Given the description of an element on the screen output the (x, y) to click on. 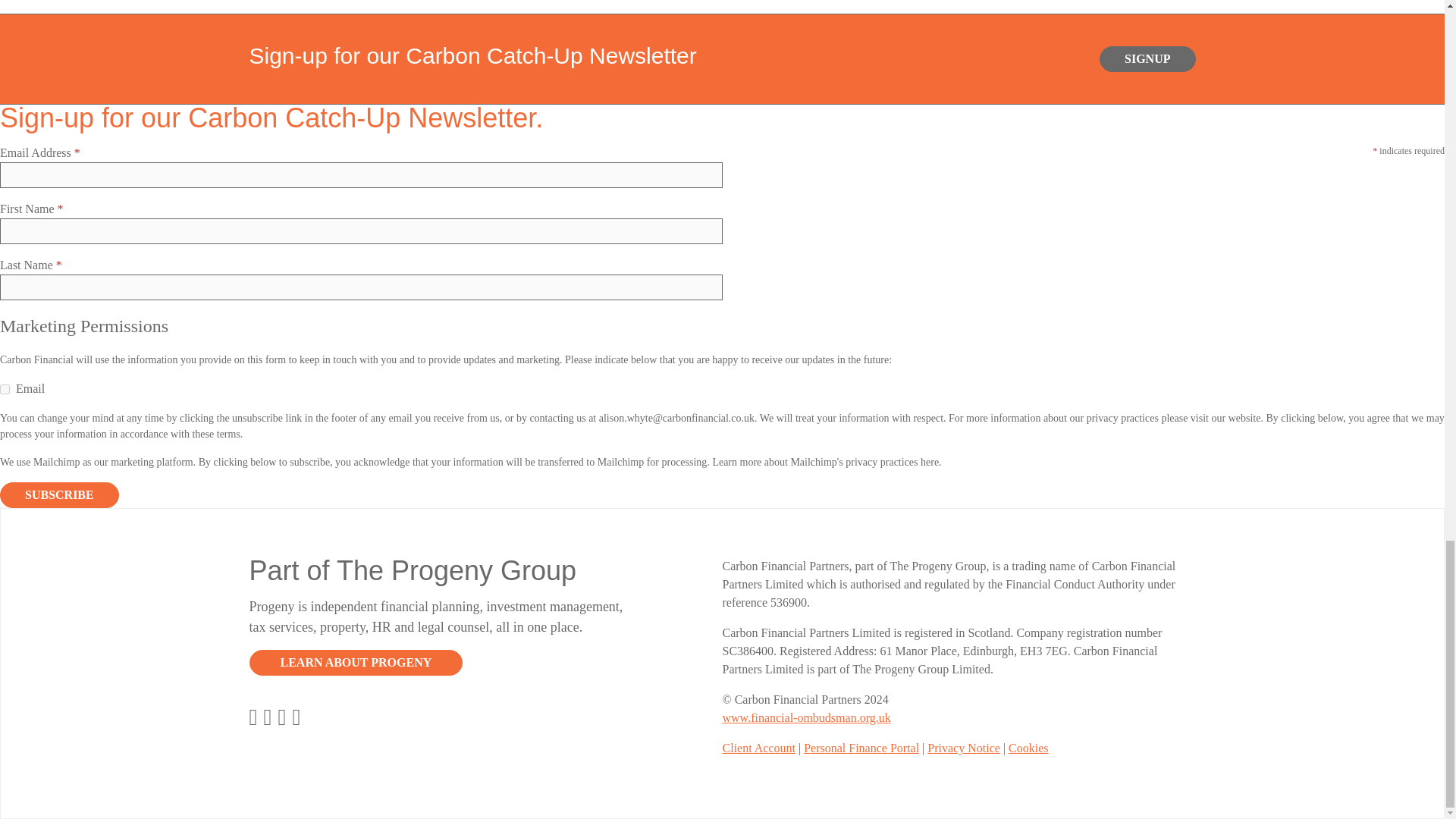
Personal Finance Portal (860, 748)
Privacy Notice (963, 748)
Learn more about Mailchimp's privacy practices here. (825, 461)
Cookies (1028, 748)
Learn about progeny  (355, 662)
Client Account (758, 748)
Client Account (758, 748)
The Financial Conduct Authority (805, 717)
Subscribe (59, 494)
Y (5, 388)
